Given the description of an element on the screen output the (x, y) to click on. 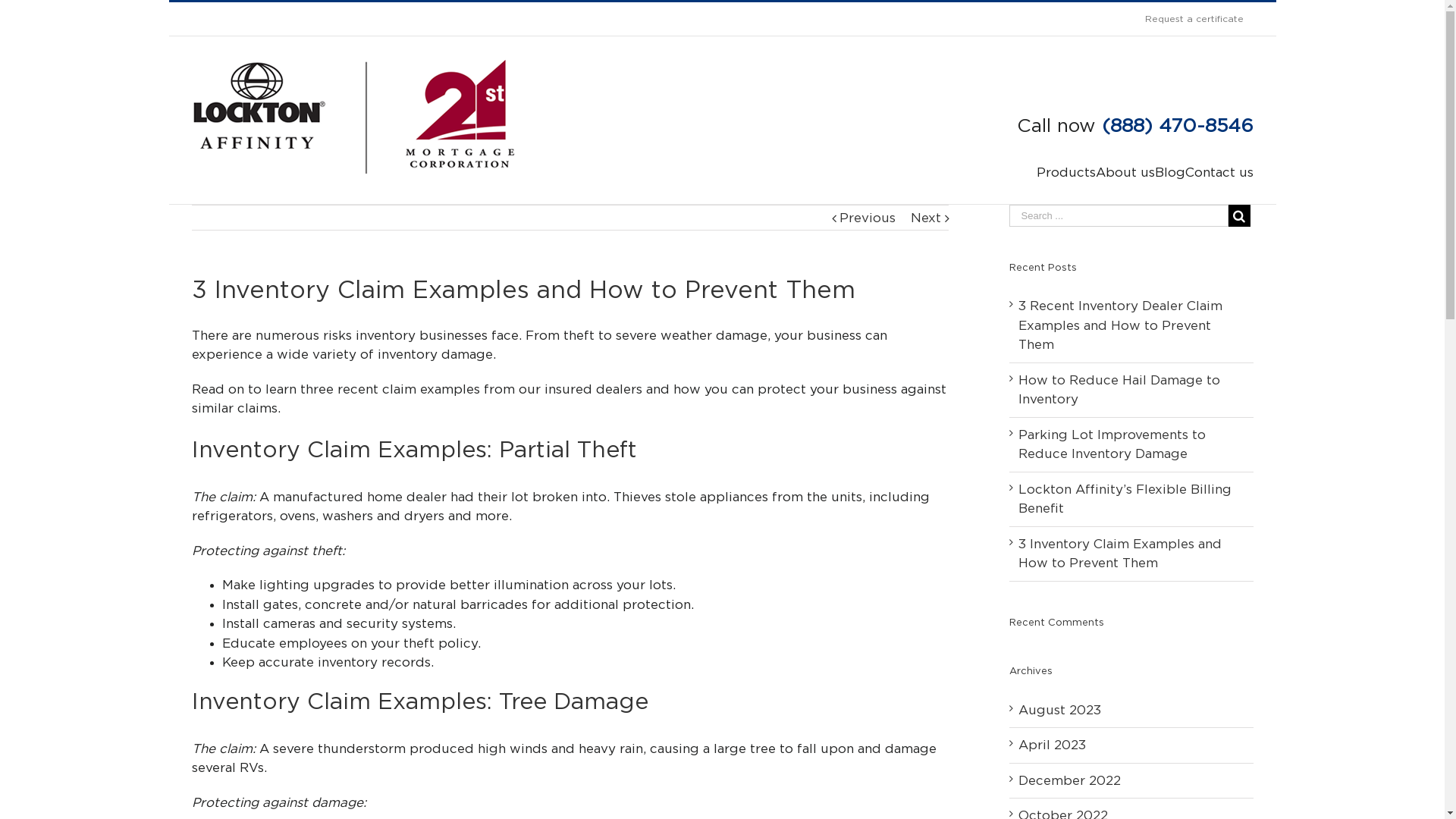
Next Element type: text (925, 217)
Products Element type: text (1065, 172)
Parking Lot Improvements to Reduce Inventory Damage Element type: text (1110, 443)
About us Element type: text (1124, 172)
Previous Element type: text (866, 217)
Contact us Element type: text (1218, 172)
Request a certificate Element type: text (1193, 18)
August 2023 Element type: text (1058, 709)
Blog Element type: text (1169, 172)
3 Inventory Claim Examples and How to Prevent Them Element type: text (1118, 552)
How to Reduce Hail Damage to Inventory Element type: text (1118, 389)
April 2023 Element type: text (1051, 744)
December 2022 Element type: text (1068, 779)
